Given the description of an element on the screen output the (x, y) to click on. 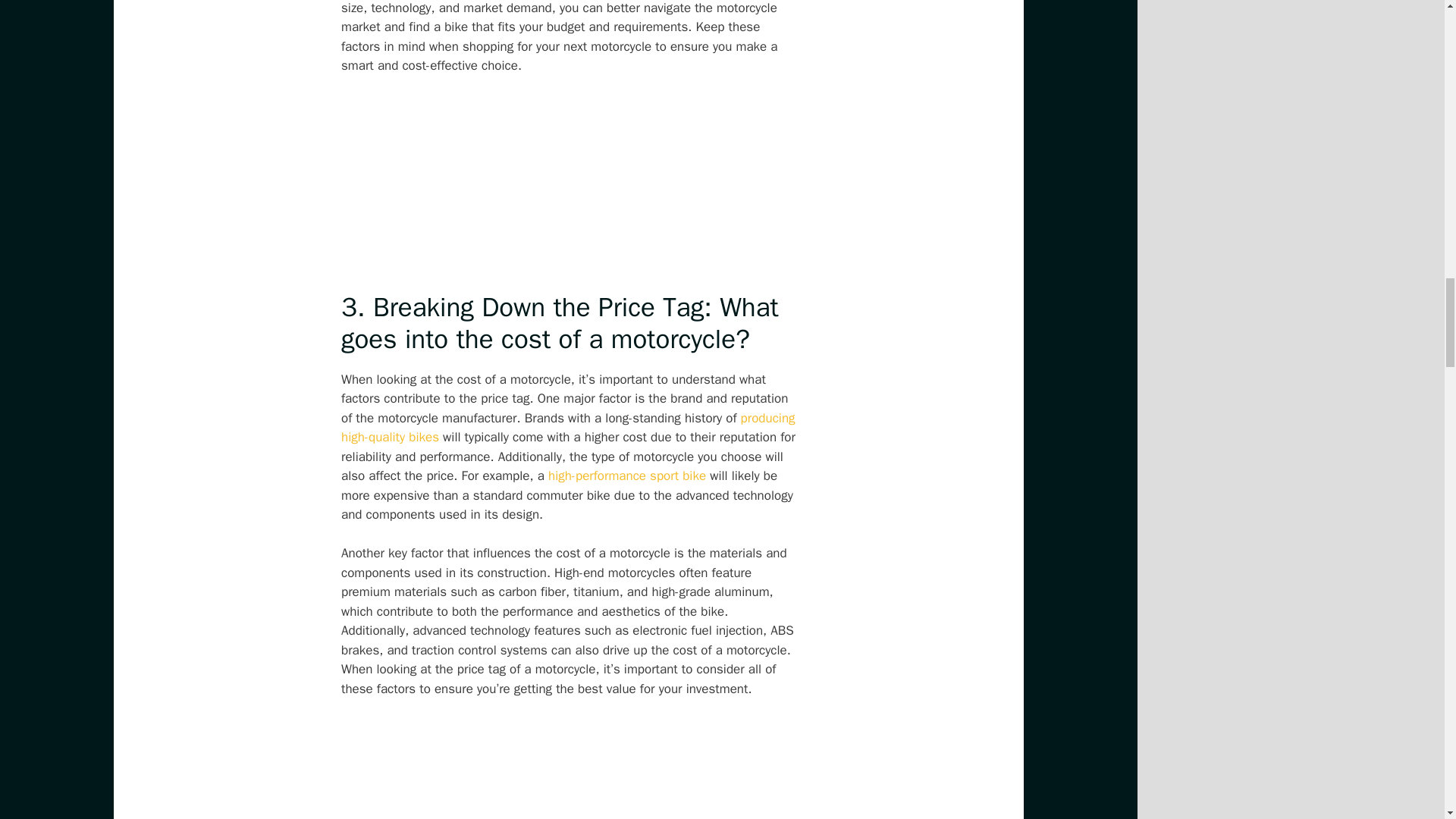
Harley Davidson and Kawasaki: Debunking Ownership Myths (627, 475)
high-performance sport bike (627, 475)
producing high-quality bikes (567, 427)
